Given the description of an element on the screen output the (x, y) to click on. 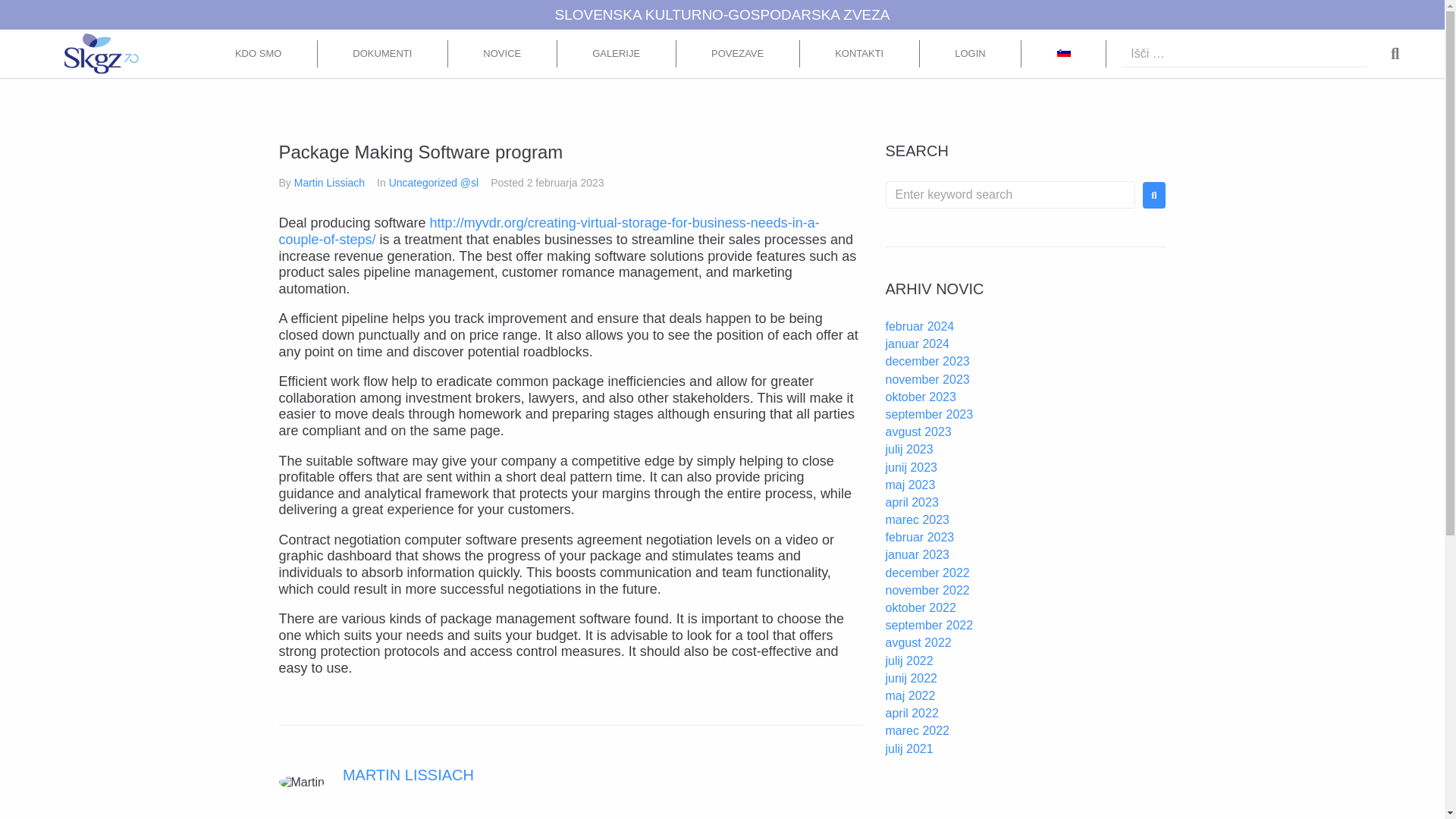
KDO SMO (258, 53)
december 2023 (927, 360)
november 2023 (927, 379)
MARTIN LISSIACH (408, 774)
februar 2024 (920, 326)
NOVICE (502, 53)
DOKUMENTI (382, 53)
januar 2024 (917, 343)
Martin Lissiach (329, 182)
GALERIJE (617, 53)
LOGIN (971, 53)
POVEZAVE (738, 53)
KONTAKTI (859, 53)
